Given the description of an element on the screen output the (x, y) to click on. 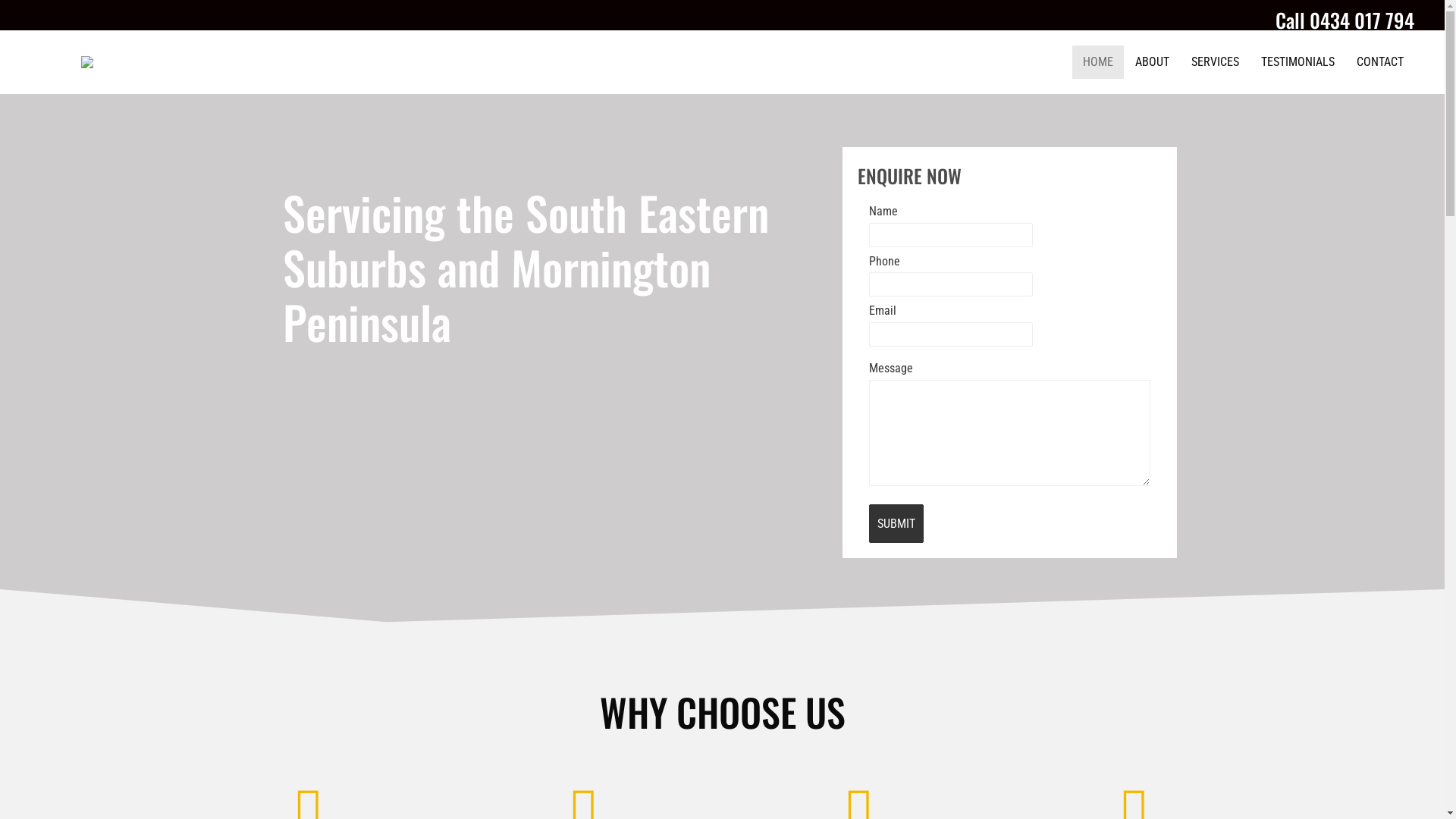
TESTIMONIALS Element type: text (1297, 61)
CONTACT Element type: text (1380, 61)
Lights out medium copy Element type: hover (145, 62)
SERVICES Element type: text (1214, 61)
SUBMIT Element type: text (896, 523)
HOME Element type: text (1097, 61)
ABOUT Element type: text (1151, 61)
